Given the description of an element on the screen output the (x, y) to click on. 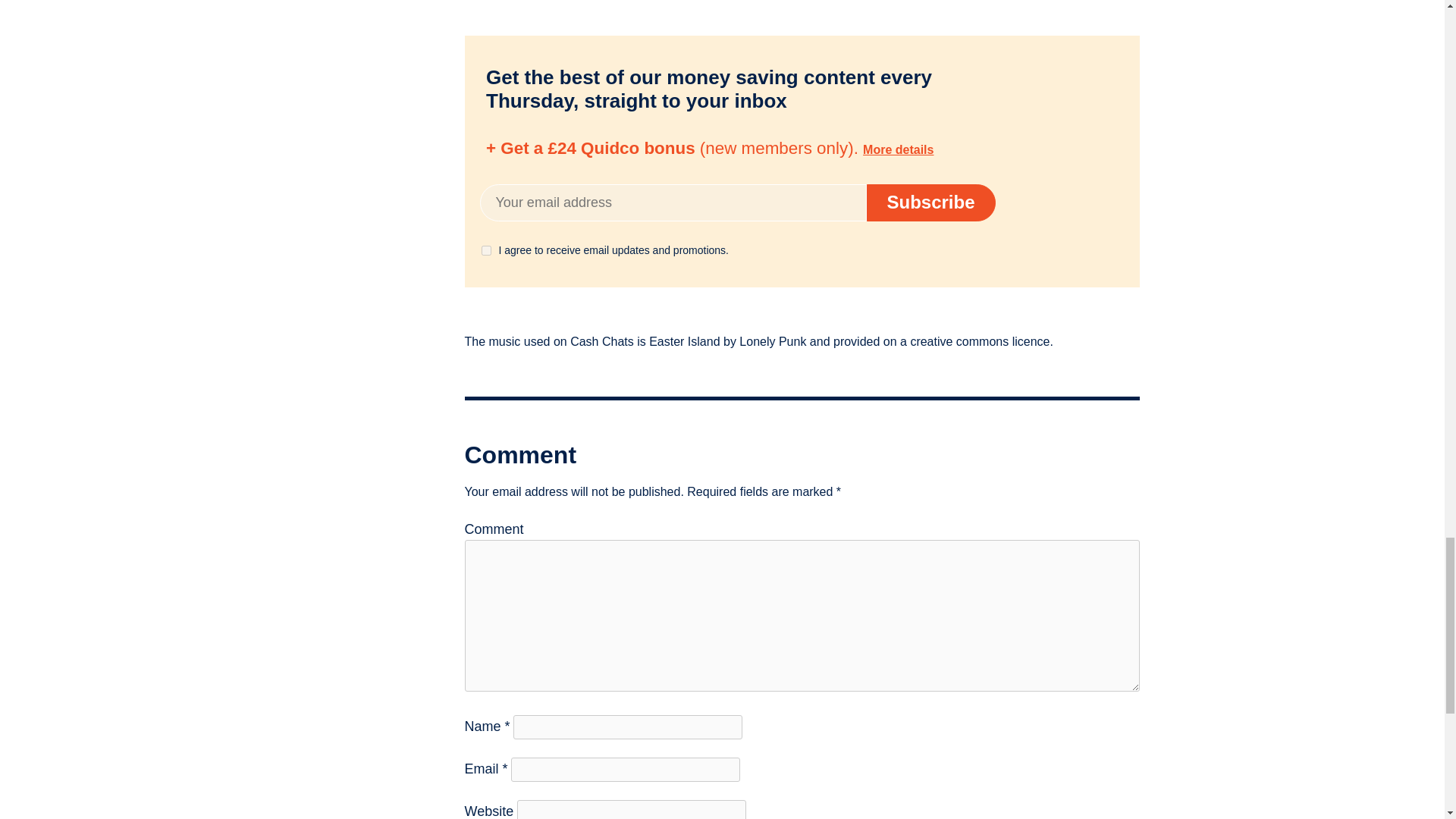
desktop-email-image (998, 146)
Subscribe (930, 202)
Y (485, 250)
